Given the description of an element on the screen output the (x, y) to click on. 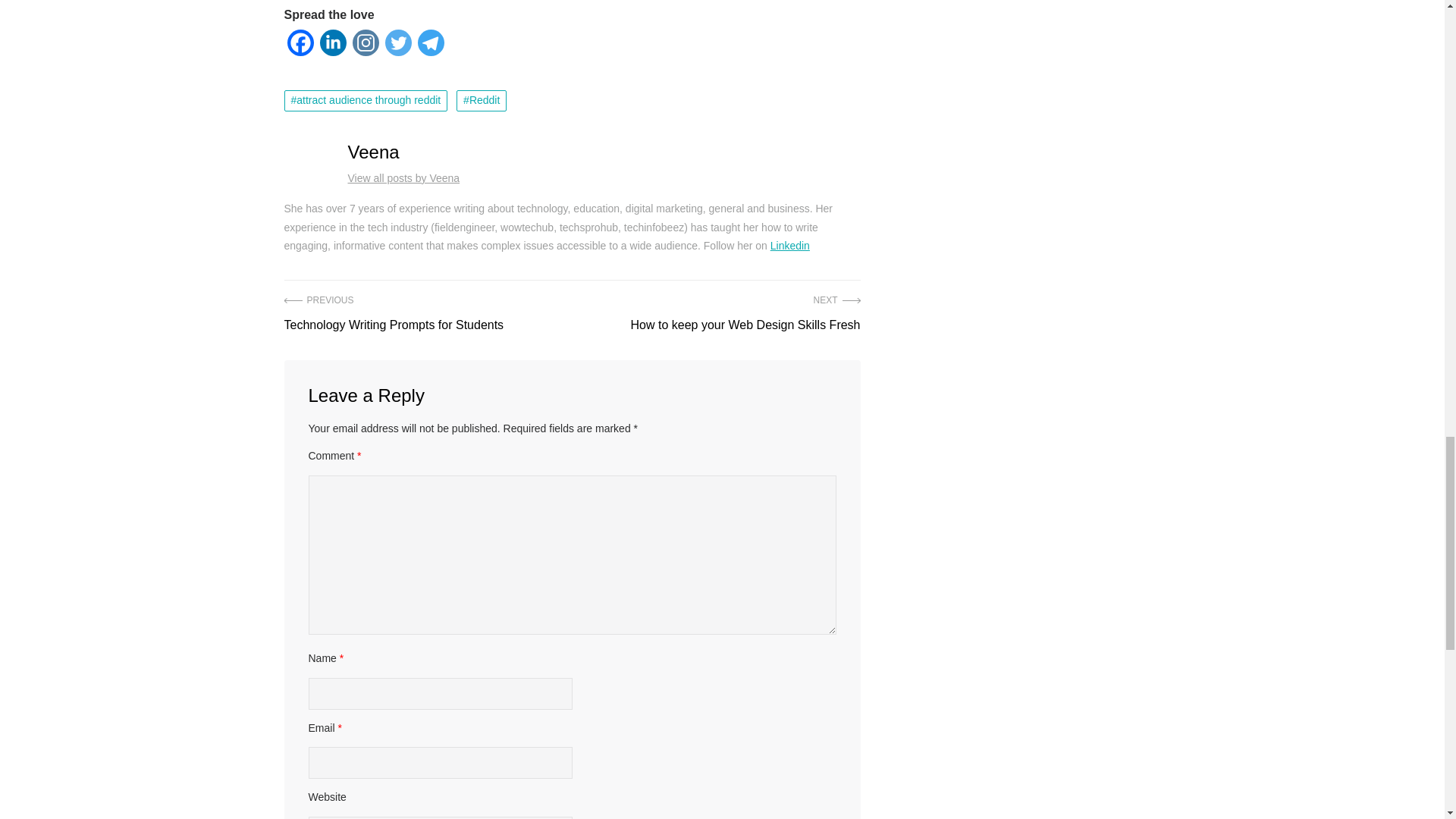
Linkedin (789, 245)
attract audience through reddit (745, 313)
Reddit (364, 100)
View all posts by Veena (481, 100)
